Given the description of an element on the screen output the (x, y) to click on. 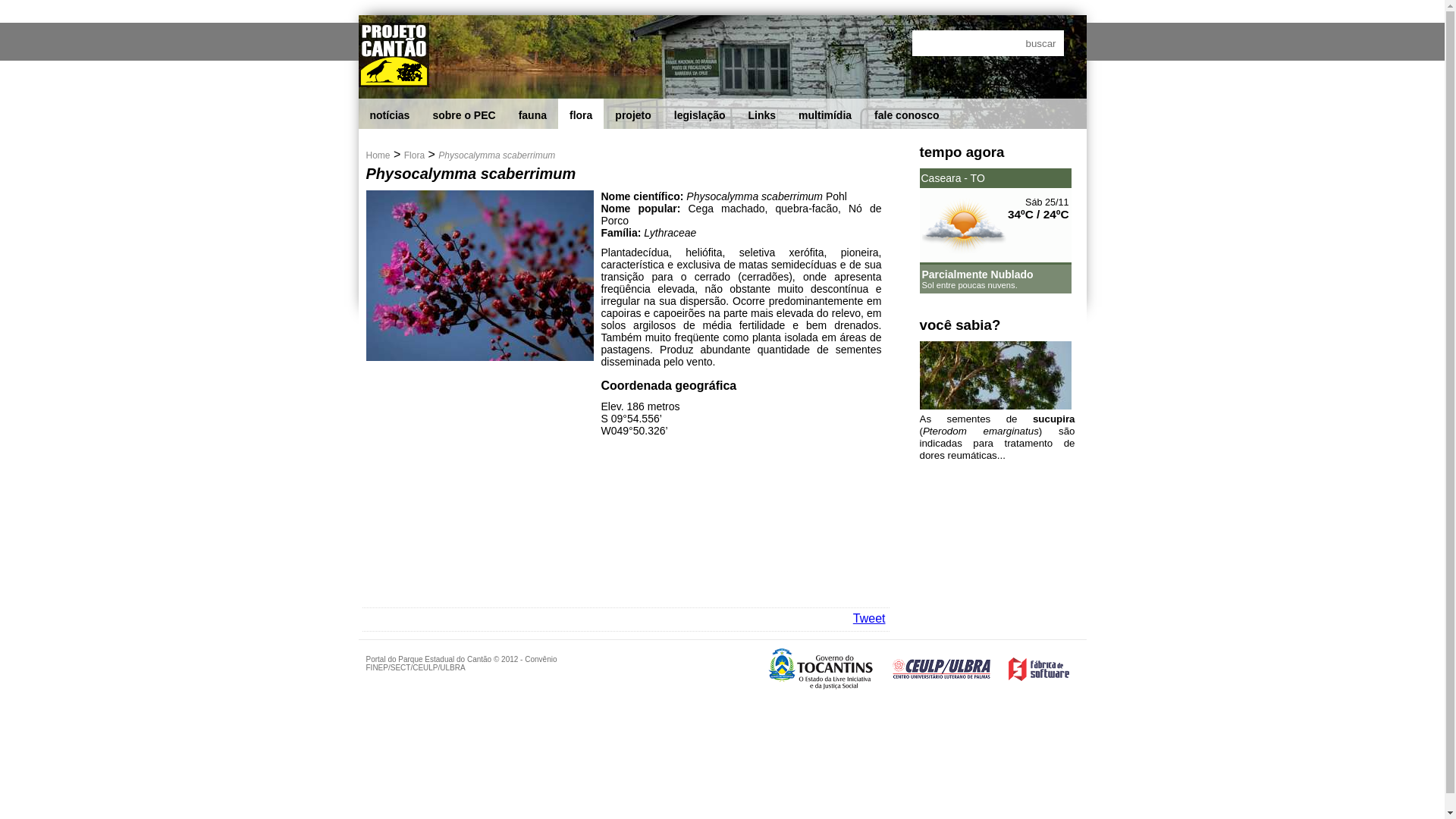
Links Element type: text (762, 115)
buscar Element type: text (1040, 43)
Caseara - TO Element type: text (994, 178)
flora Element type: text (580, 115)
Tweet Element type: text (869, 617)
projeto Element type: text (632, 115)
fale conosco Element type: text (906, 115)
sobre o PEC Element type: text (463, 115)
Flora Element type: text (414, 153)
www.cptec.inpe.br Element type: text (1040, 297)
fauna Element type: text (532, 115)
Home Element type: text (377, 153)
Physocalymma scaberrimum Element type: text (496, 153)
